Given the description of an element on the screen output the (x, y) to click on. 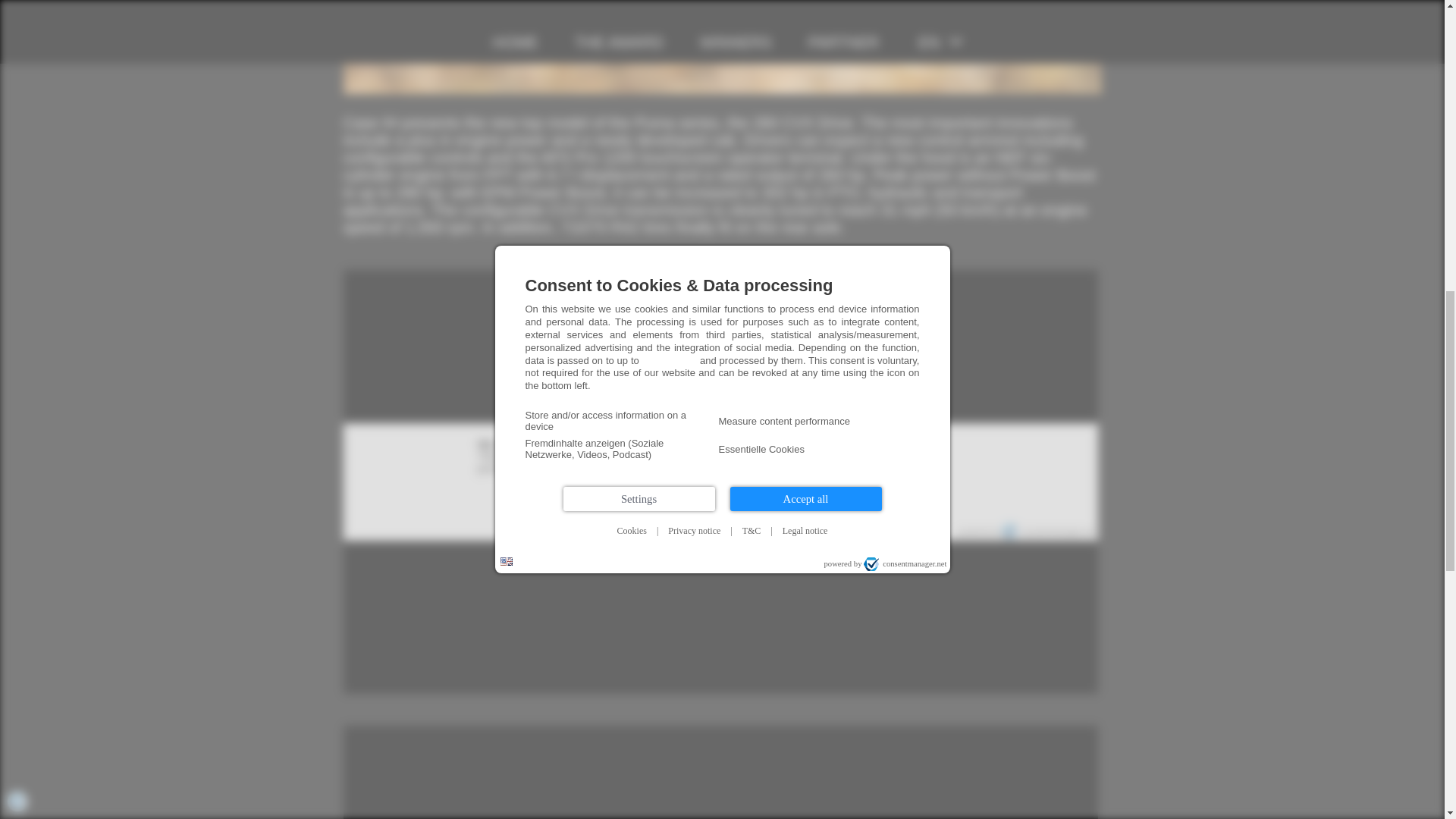
s30 (661, 520)
consentmanager.net (1048, 531)
case ih puma 260 cvx drive (721, 47)
Accept (720, 494)
